Given the description of an element on the screen output the (x, y) to click on. 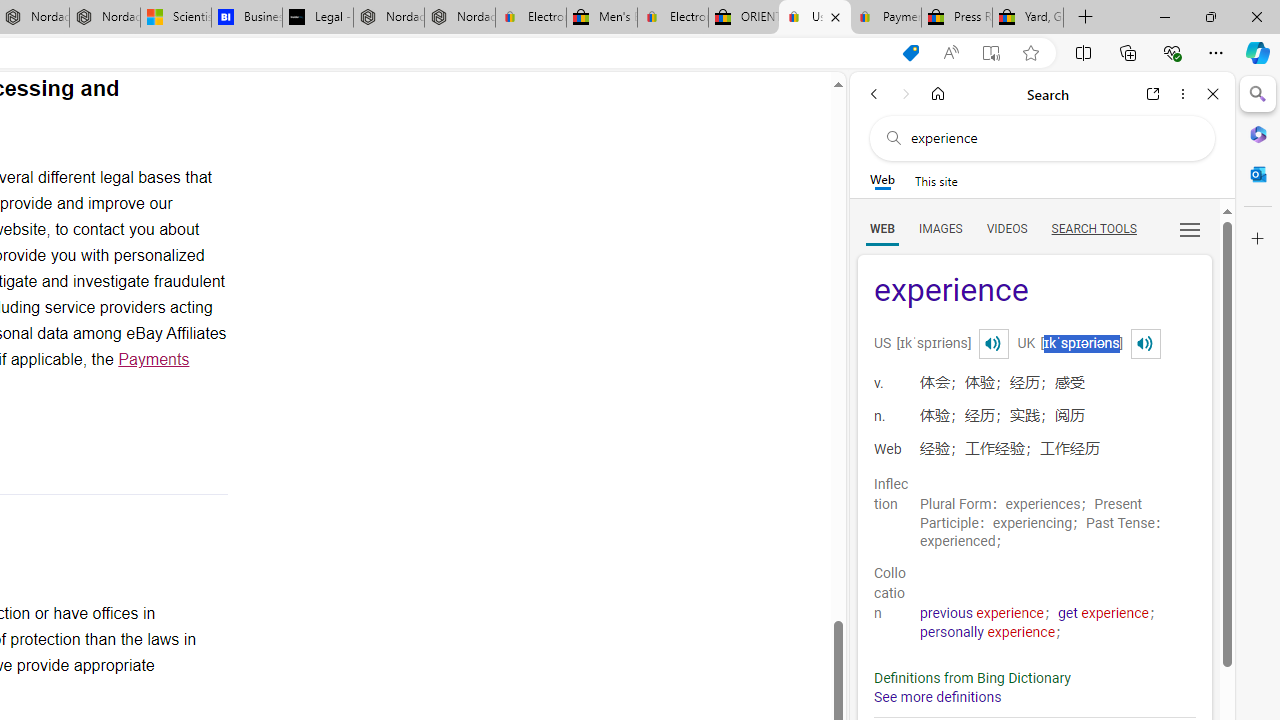
Class: dict_pnIcon rms_img (1145, 343)
